Given the description of an element on the screen output the (x, y) to click on. 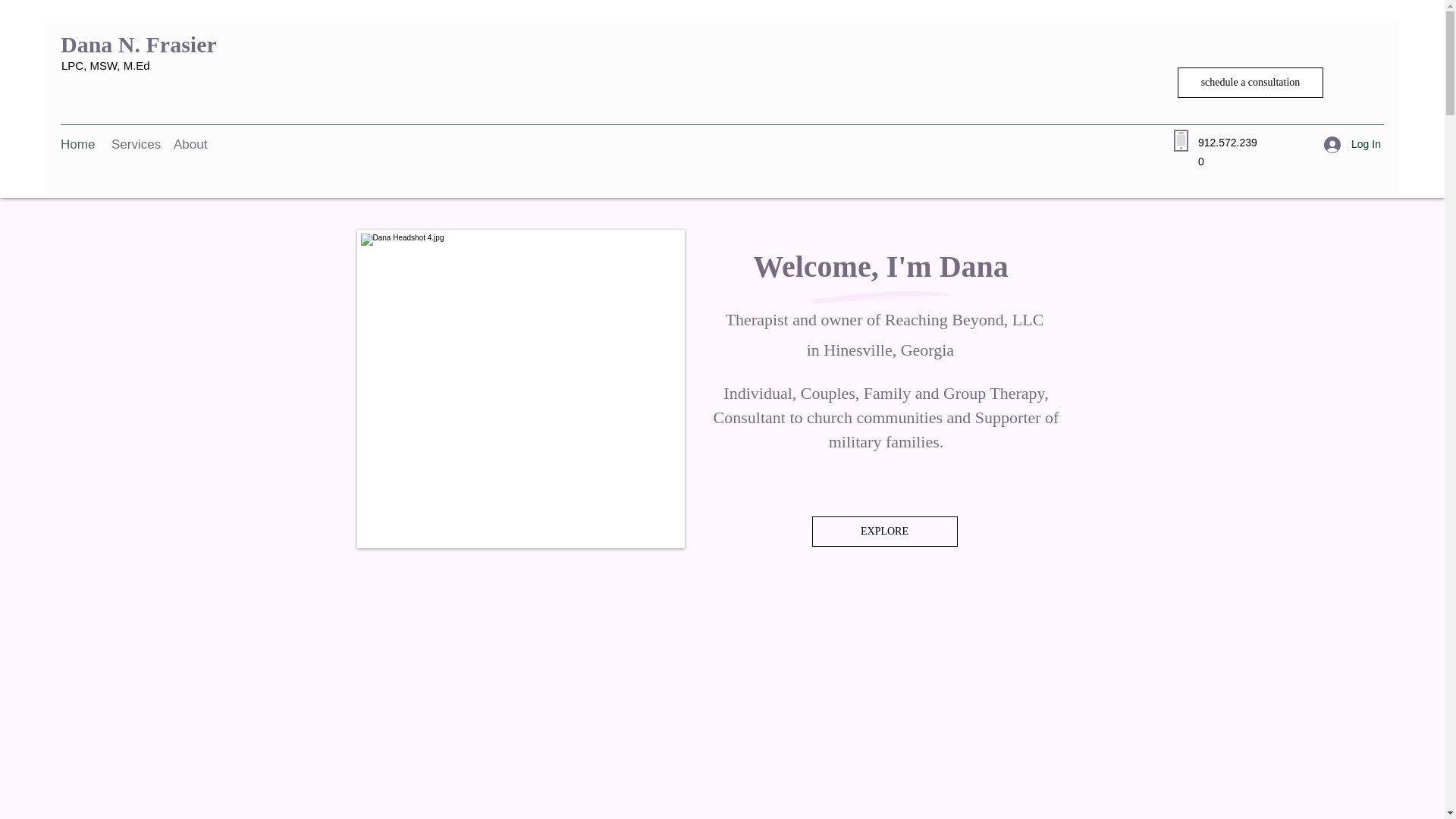
Log In (1347, 144)
About (190, 144)
schedule a consultation (1250, 82)
Dana N. Frasier (138, 43)
EXPLORE (883, 531)
Home (77, 144)
Services (134, 144)
EXPLORE (720, 733)
